Given the description of an element on the screen output the (x, y) to click on. 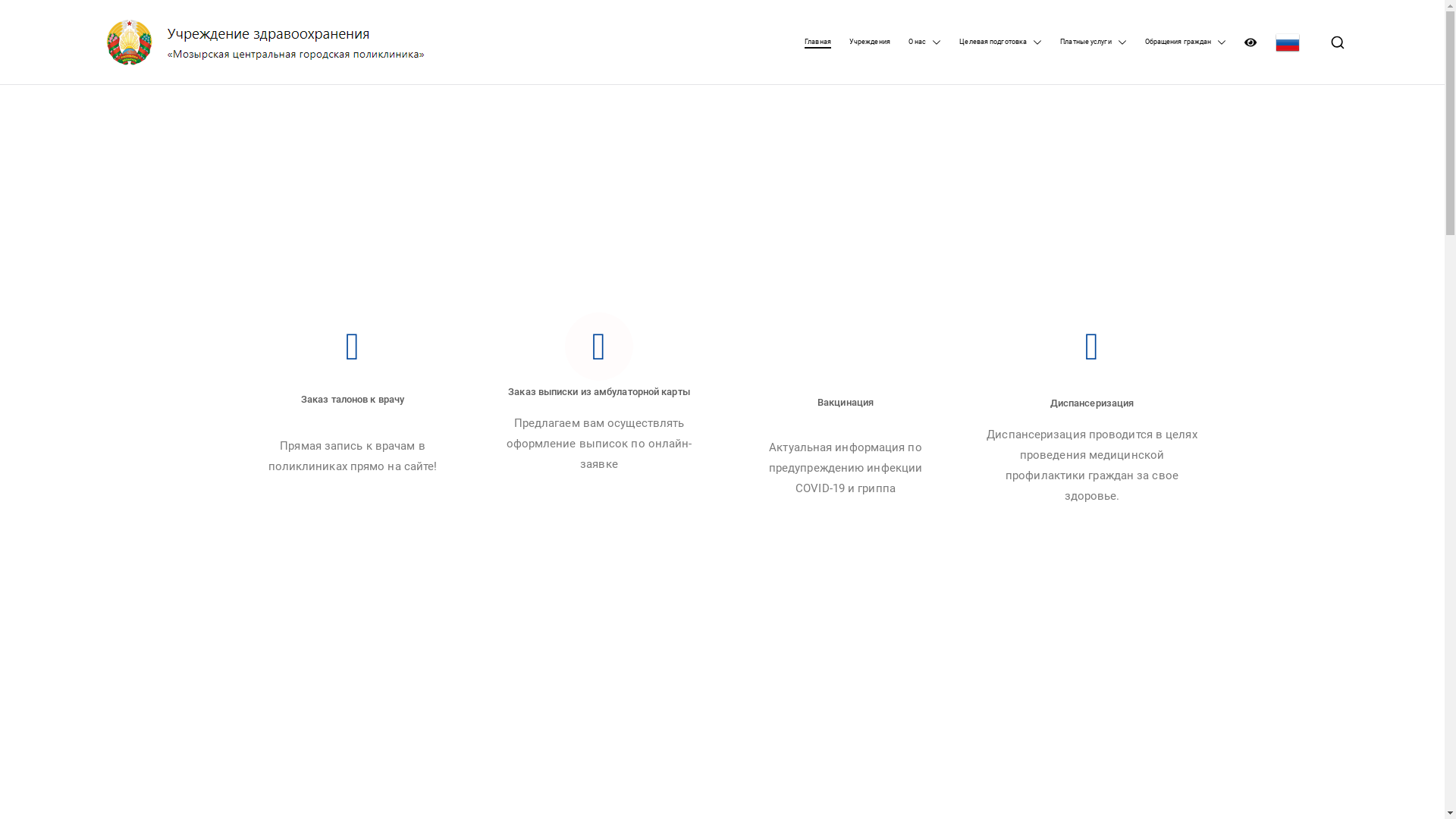
Russian Element type: hover (1287, 42)
